Given the description of an element on the screen output the (x, y) to click on. 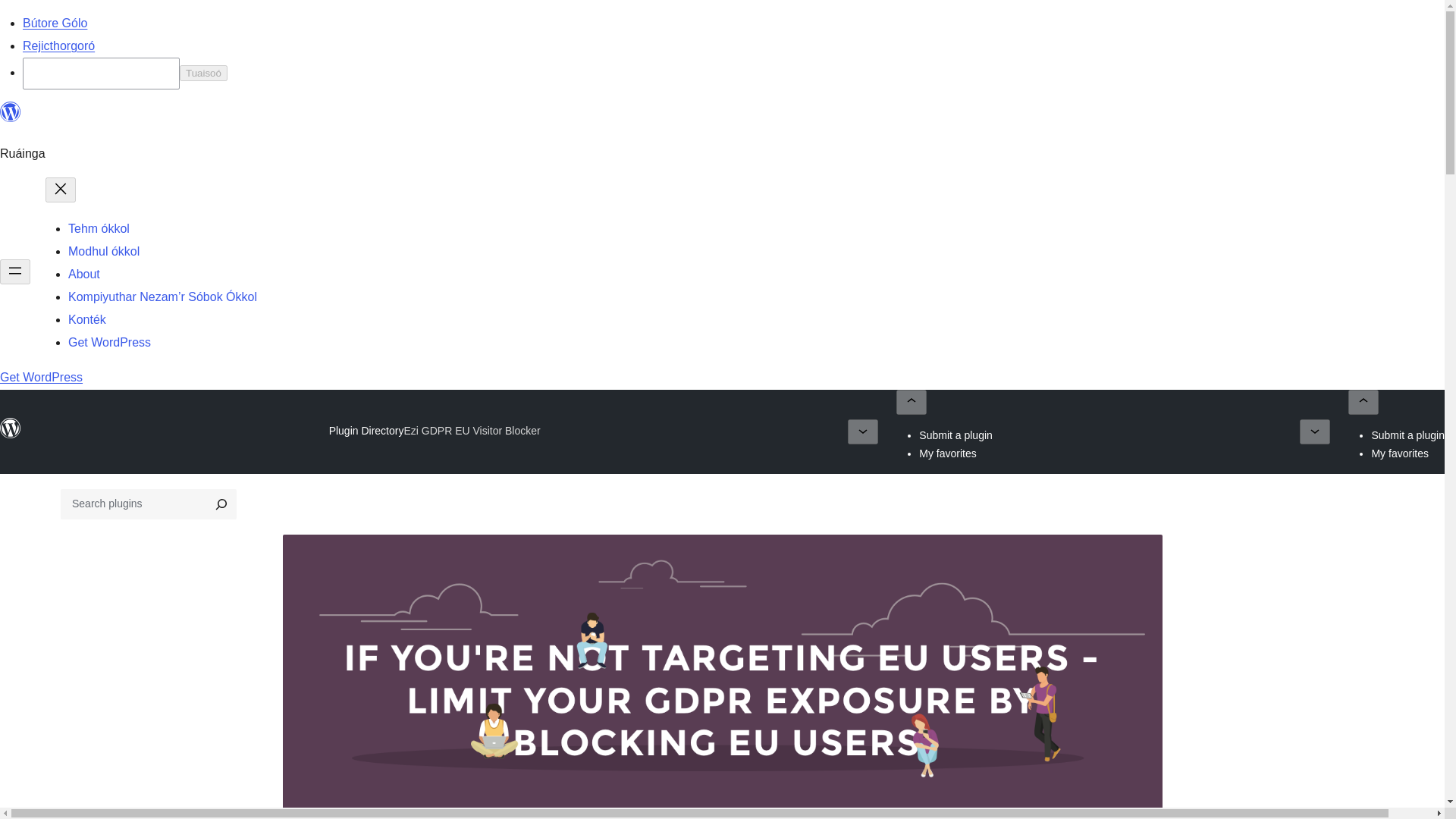
Plugin Directory (366, 430)
Get WordPress (41, 377)
My favorites (946, 453)
Ezi GDPR EU Visitor Blocker (471, 431)
Get WordPress (109, 341)
WordPress.org (10, 111)
WordPress.org (10, 118)
WordPress.org (10, 435)
WordPress.org (10, 427)
Submit a plugin (955, 435)
Submit a plugin (1407, 435)
My favorites (1399, 453)
About (84, 273)
